Given the description of an element on the screen output the (x, y) to click on. 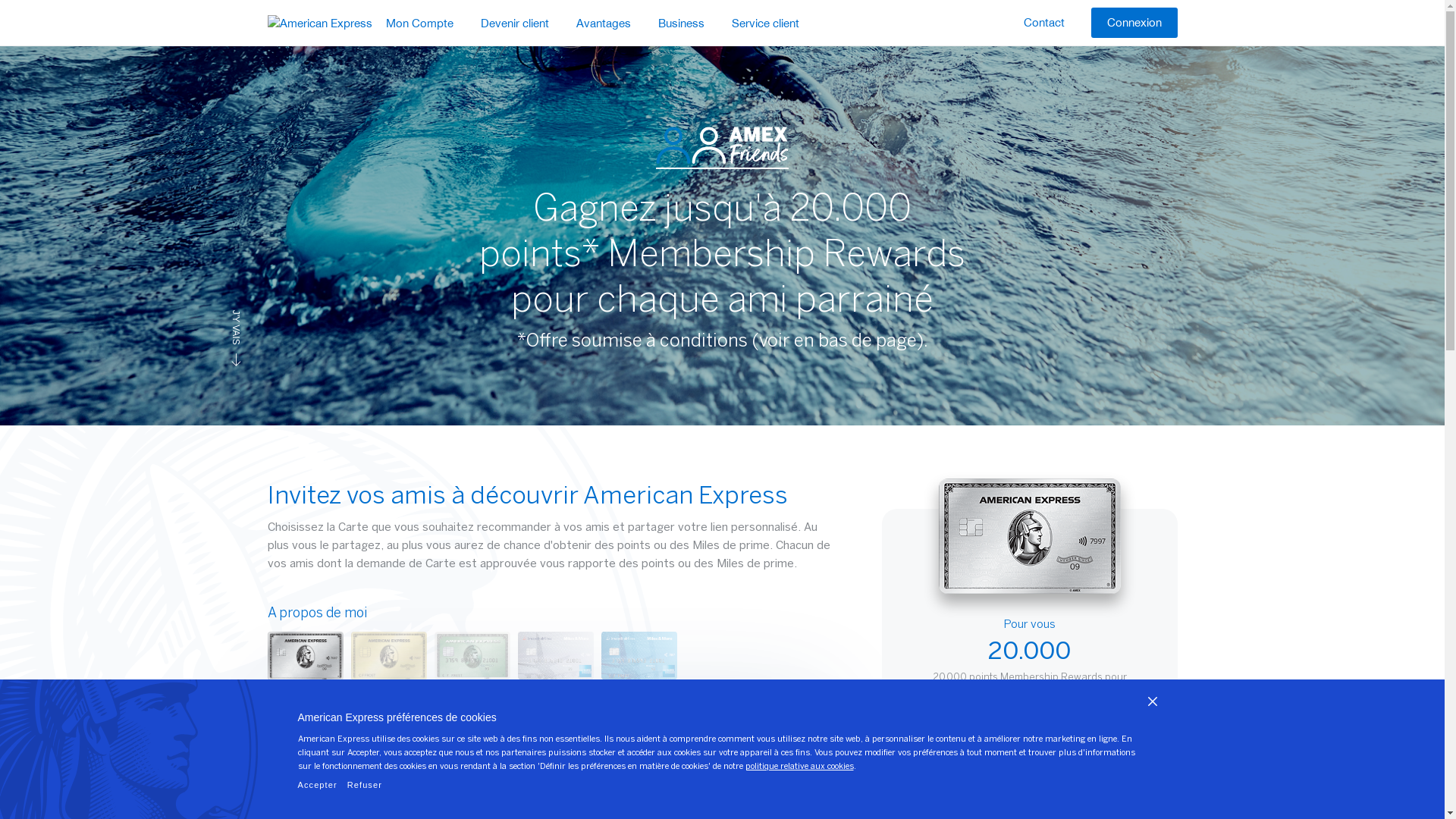
Contact Element type: text (1043, 22)
Blue Box Element type: hover (318, 21)
Refuser Element type: text (364, 785)
Connexion Element type: text (1133, 22)
J'Y VAIS Element type: text (254, 320)
Accepter Element type: text (316, 785)
politique relative aux cookies Element type: text (798, 766)
